Given the description of an element on the screen output the (x, y) to click on. 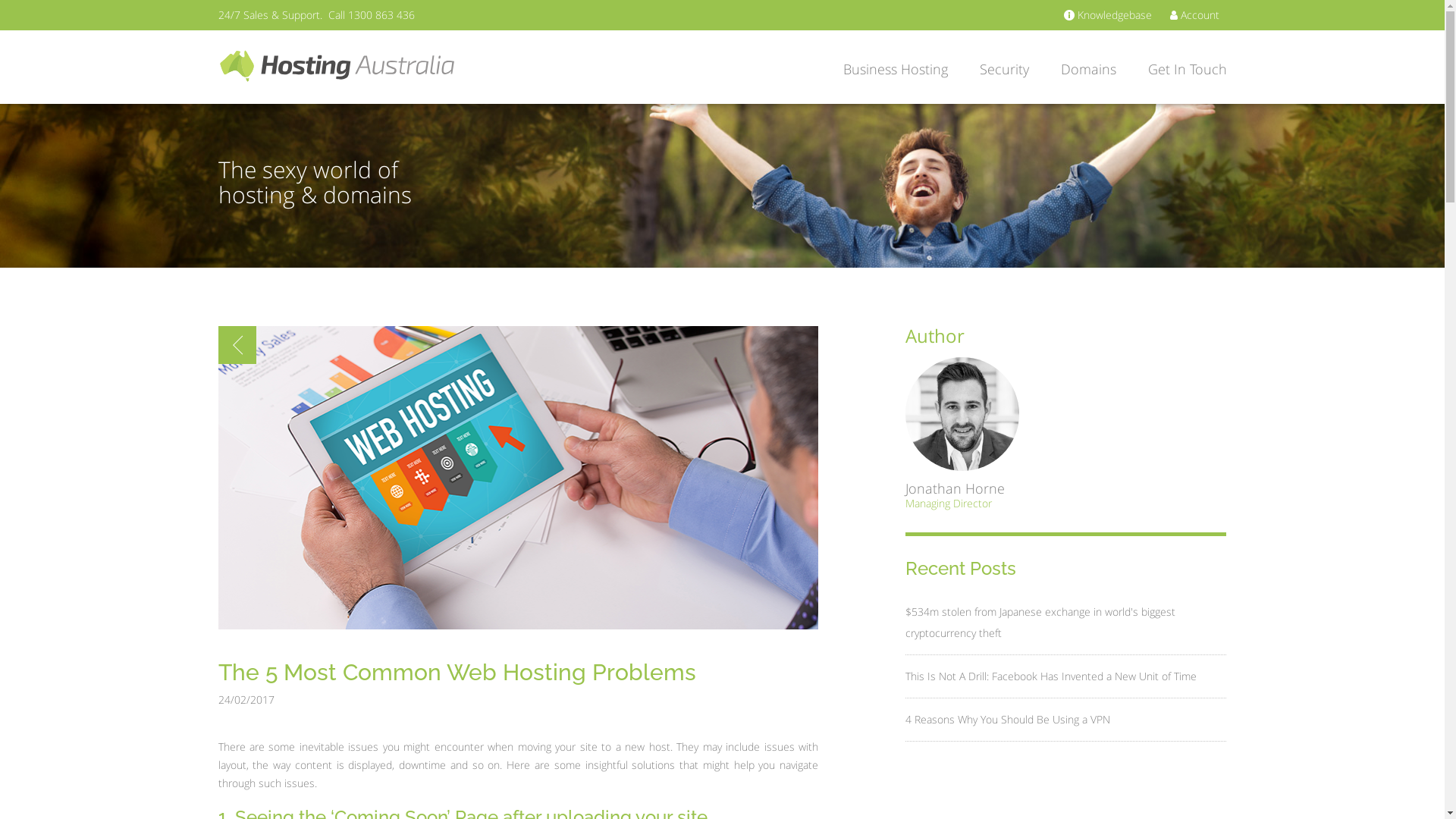
Knowledgebase Element type: text (1106, 15)
Get In Touch Element type: text (1177, 67)
Account Element type: text (1193, 15)
Domains Element type: text (1085, 67)
4 Reasons Why You Should Be Using a VPN Element type: text (1007, 719)
Call 1300 863 436 Element type: text (370, 15)
Security Element type: text (1000, 67)
Business Hosting Element type: text (891, 67)
